Given the description of an element on the screen output the (x, y) to click on. 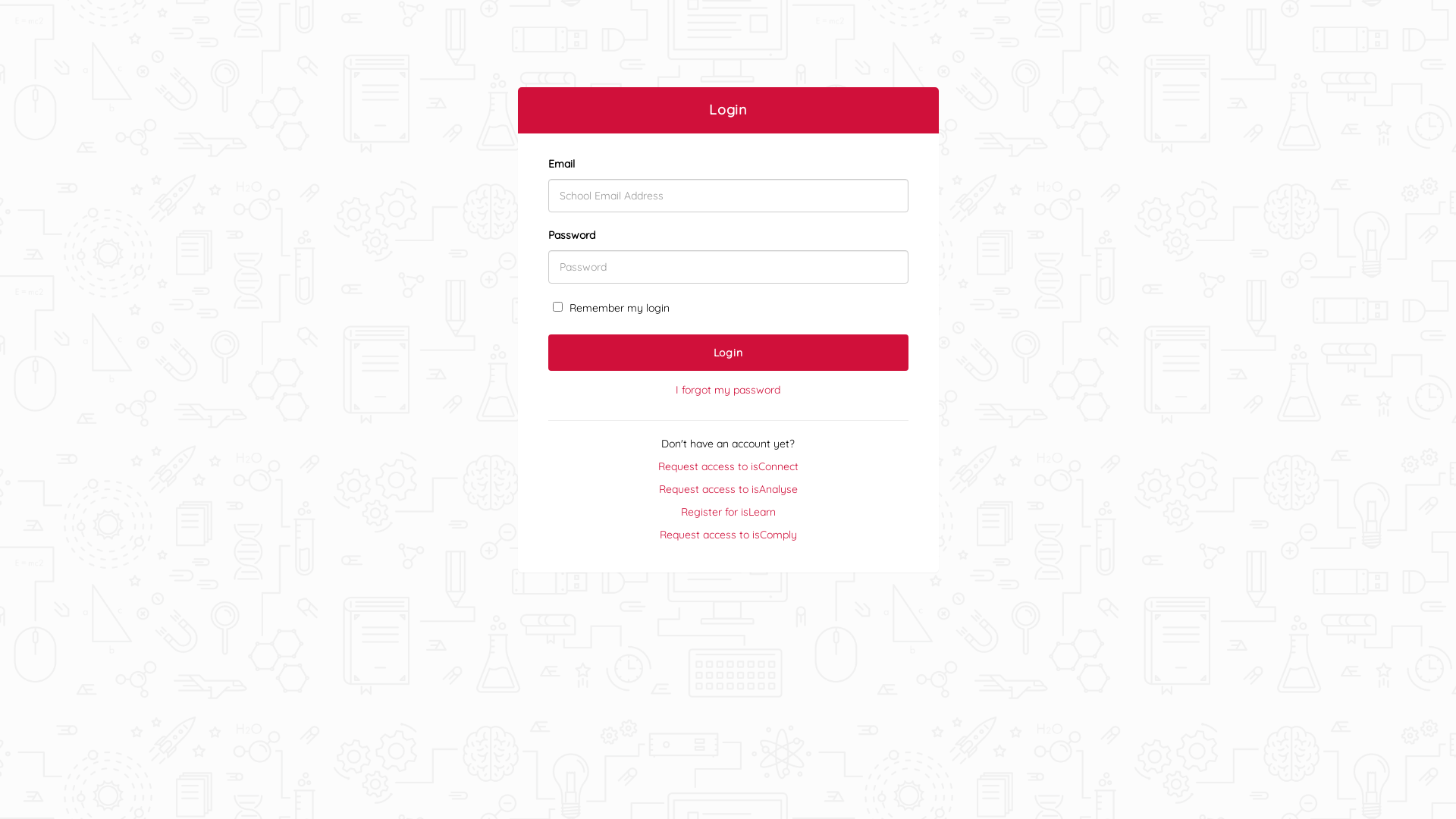
Register for isLearn Element type: text (727, 511)
Request access to isConnect Element type: text (728, 466)
I forgot my password Element type: text (727, 389)
Request access to isAnalyse Element type: text (727, 488)
Request access to isComply Element type: text (728, 534)
Login Element type: text (727, 352)
